Given the description of an element on the screen output the (x, y) to click on. 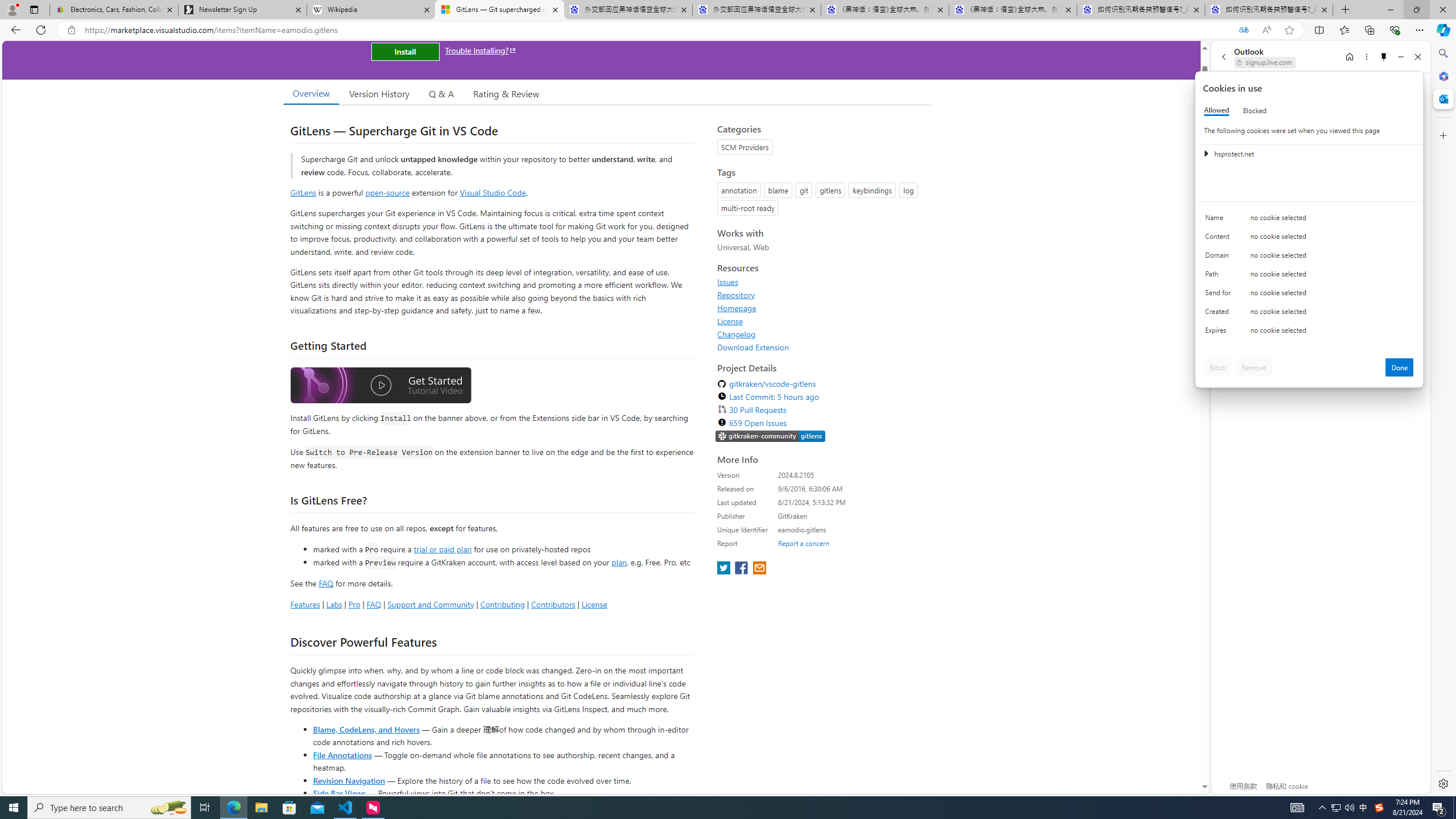
Homepage (737, 307)
https://slack.gitkraken.com// (769, 436)
Watch the GitLens Getting Started video (380, 387)
Created (1219, 313)
Changelog (736, 333)
Side Bar Views (339, 792)
Overview (310, 92)
